Given the description of an element on the screen output the (x, y) to click on. 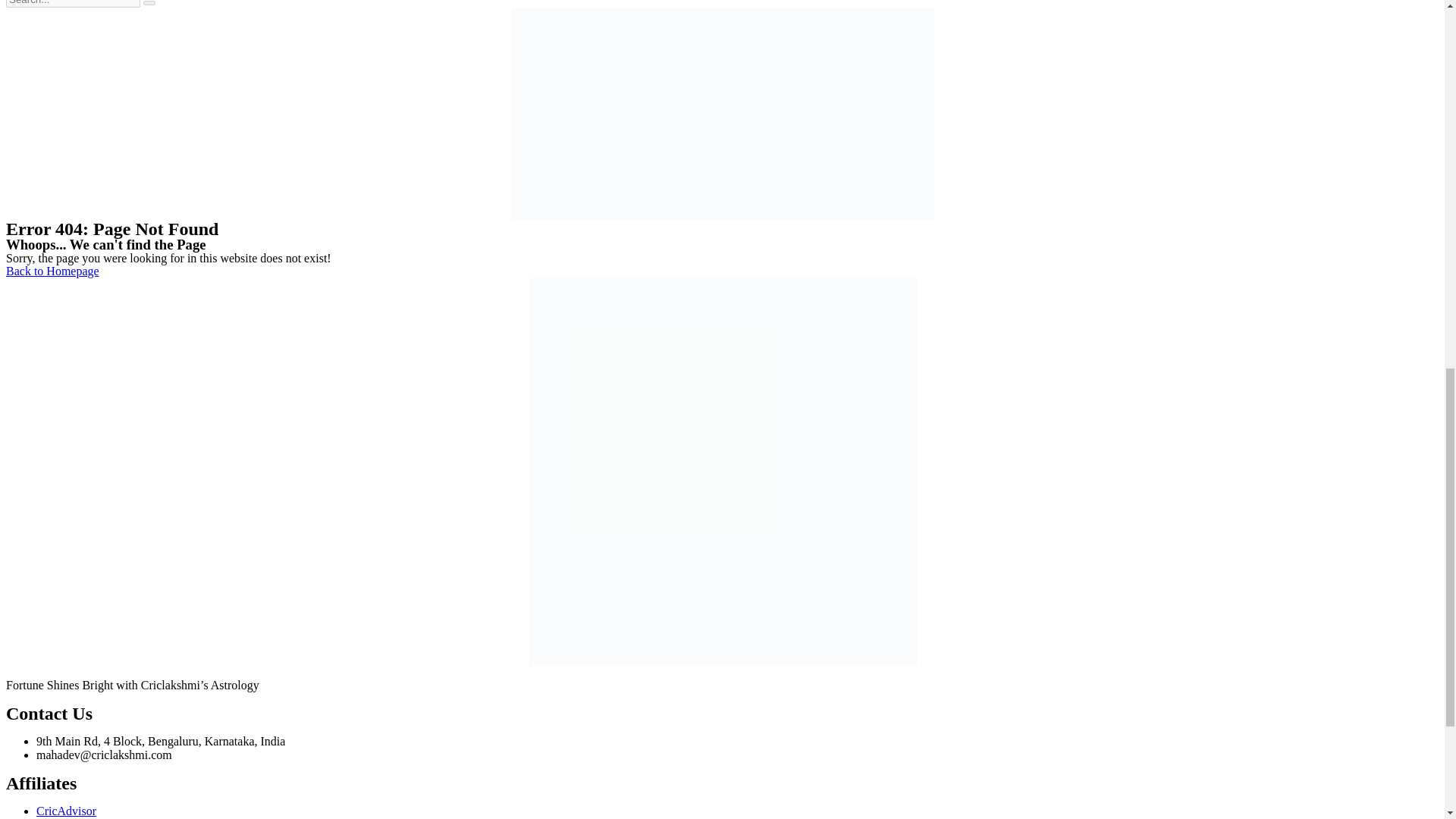
CricAdvisor (66, 810)
ICCTips (57, 818)
Back to Homepage (52, 270)
